Given the description of an element on the screen output the (x, y) to click on. 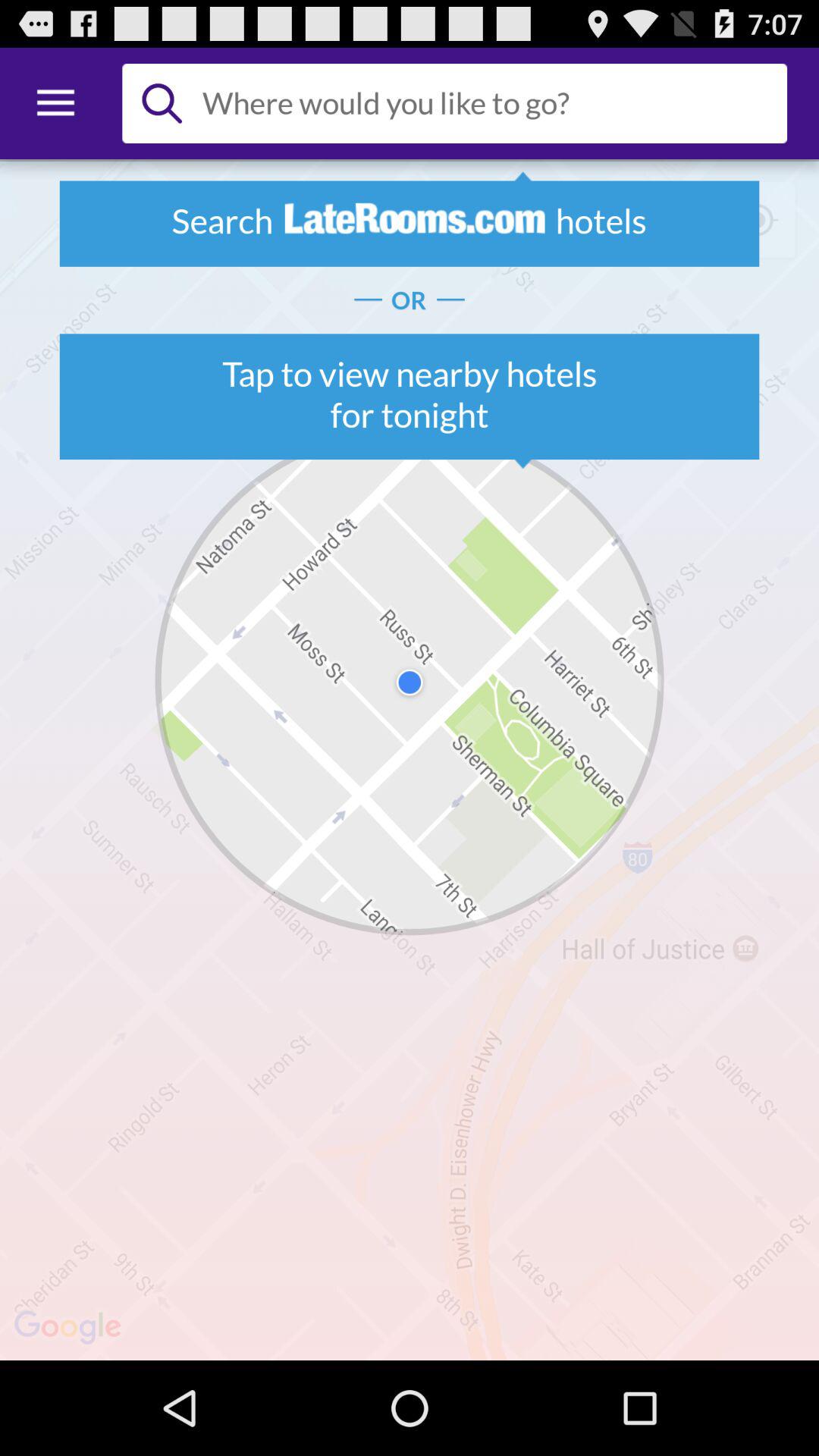
search hotels (489, 103)
